Given the description of an element on the screen output the (x, y) to click on. 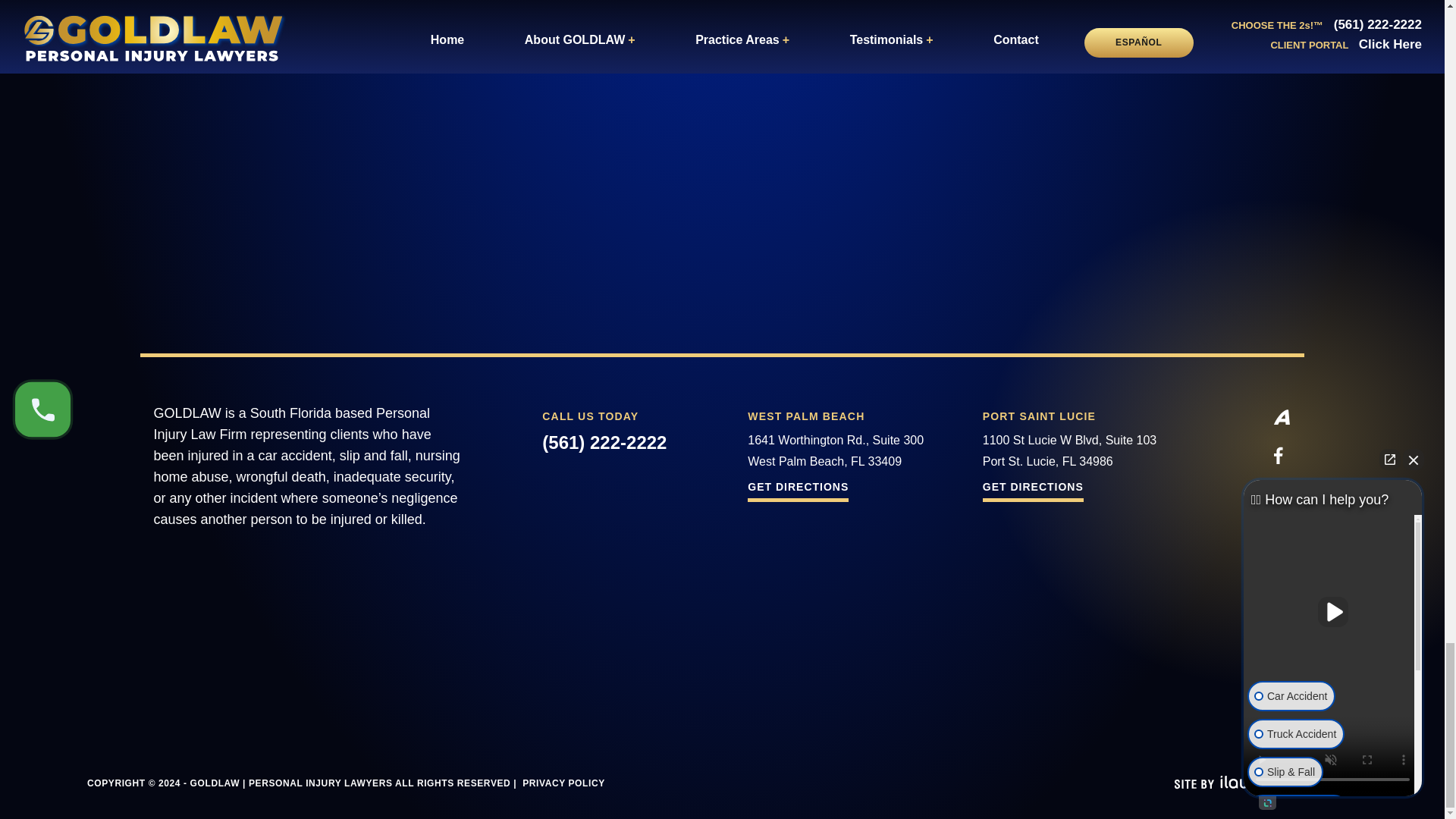
Avvo (1282, 415)
TikTok (1282, 651)
